Given the description of an element on the screen output the (x, y) to click on. 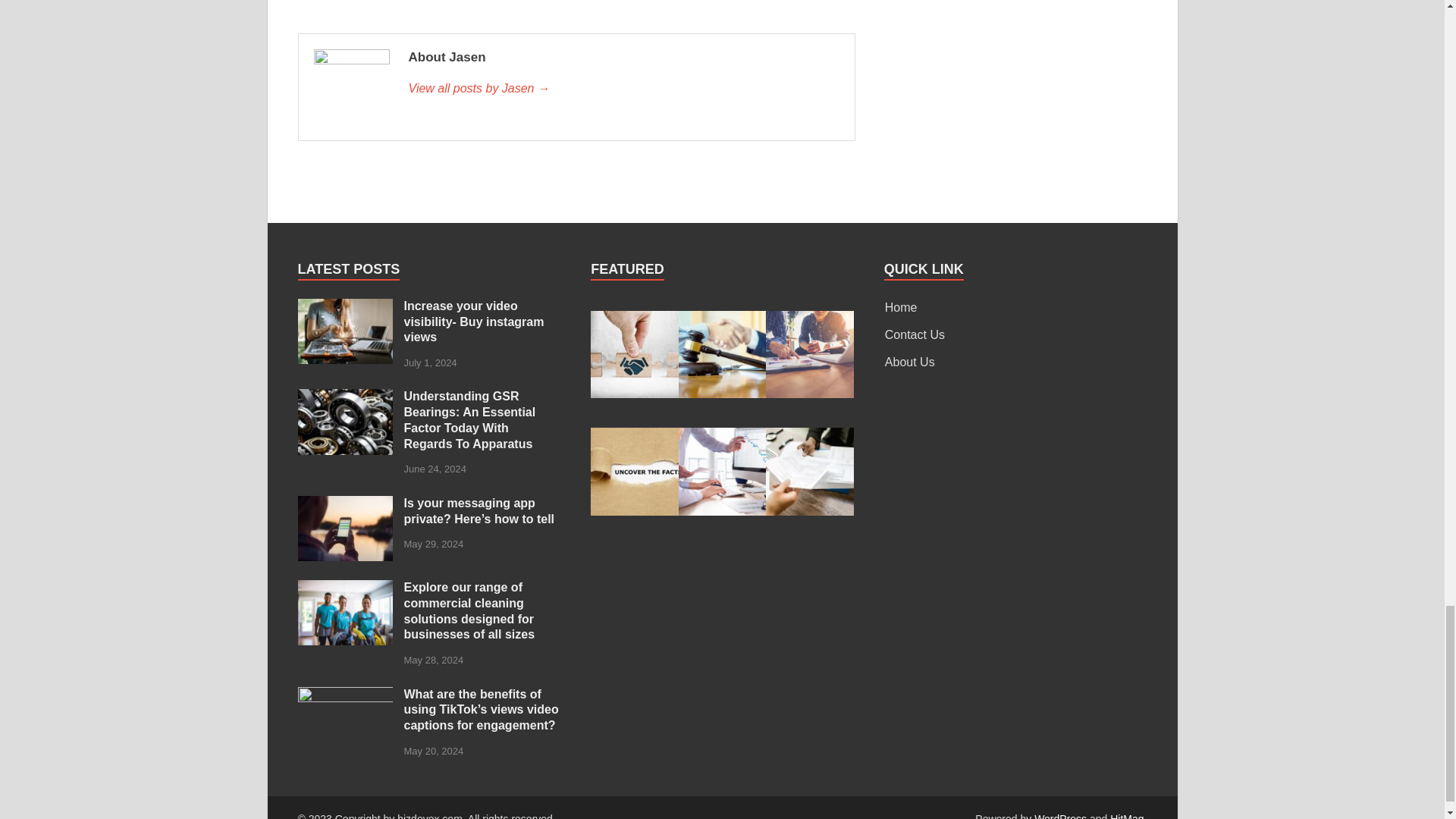
Jasen (622, 88)
